Given the description of an element on the screen output the (x, y) to click on. 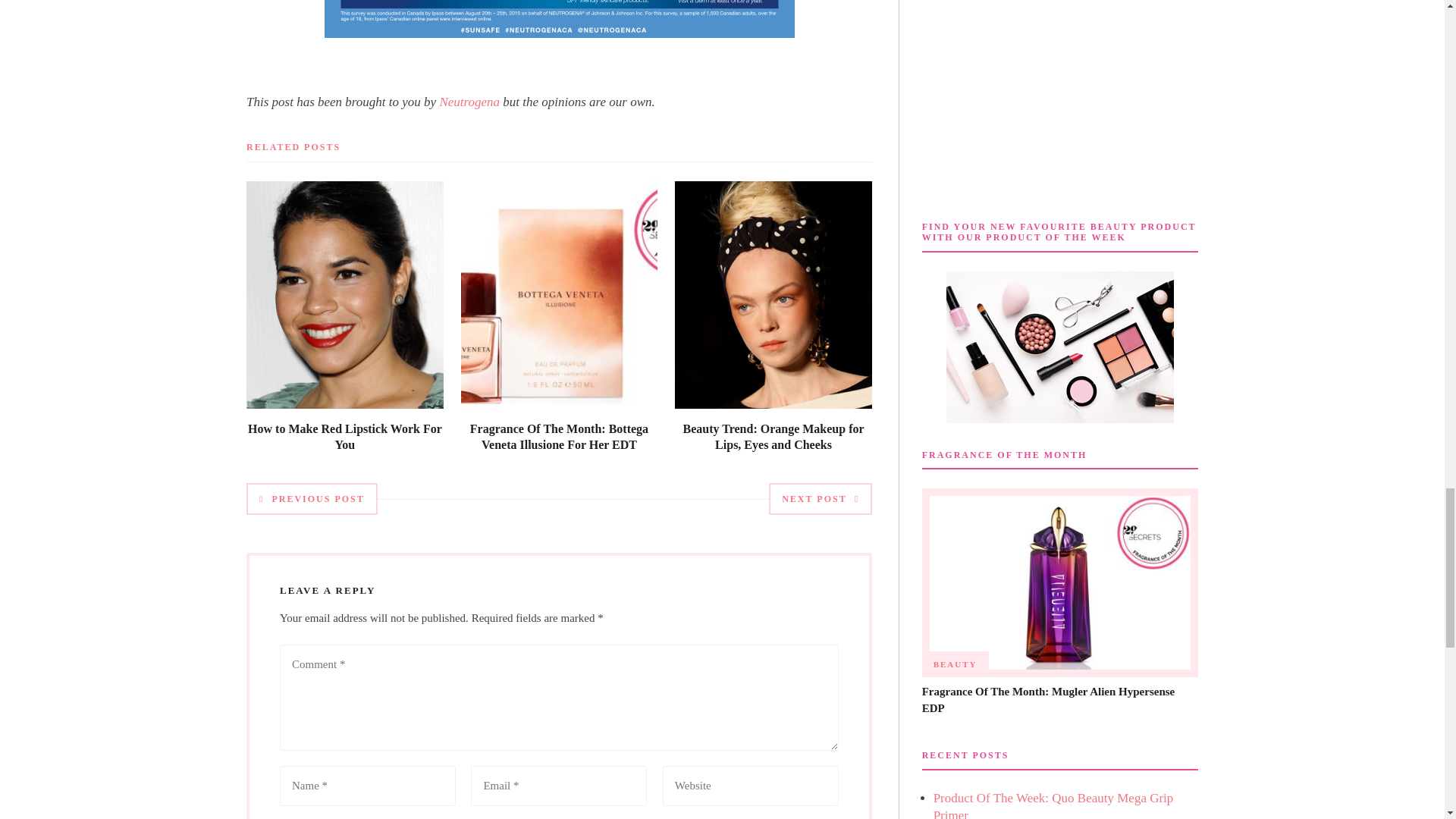
How to Make Red Lipstick Work For You (344, 436)
Beauty Trend: Orange Makeup for Lips, Eyes and Cheeks (772, 436)
Neutrogena (469, 101)
Fragrance Of The Month: Bottega Veneta Illusione For Her EDT (558, 436)
